Given the description of an element on the screen output the (x, y) to click on. 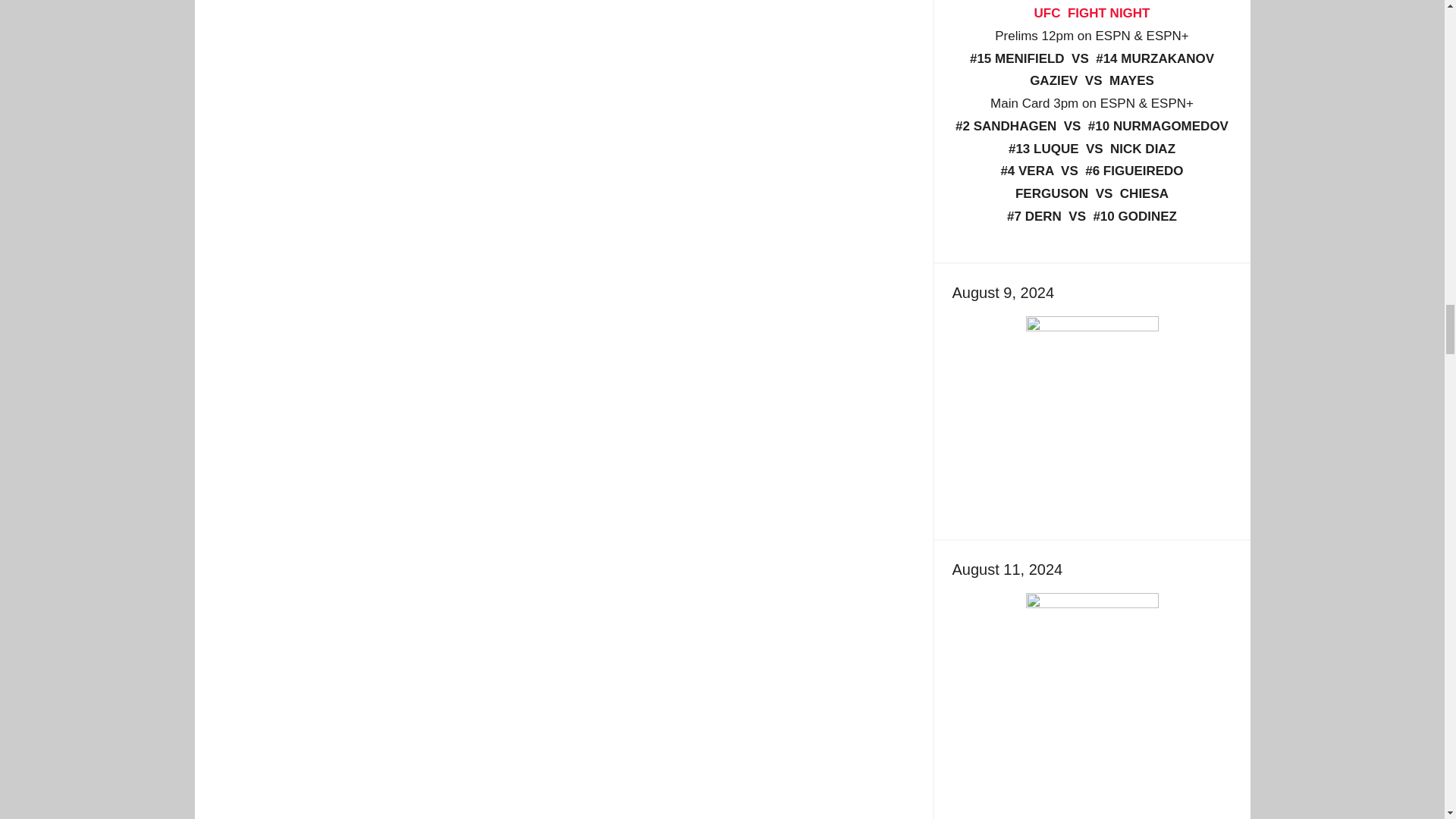
UFC  FIGHT NIGHT (1091, 12)
